Given the description of an element on the screen output the (x, y) to click on. 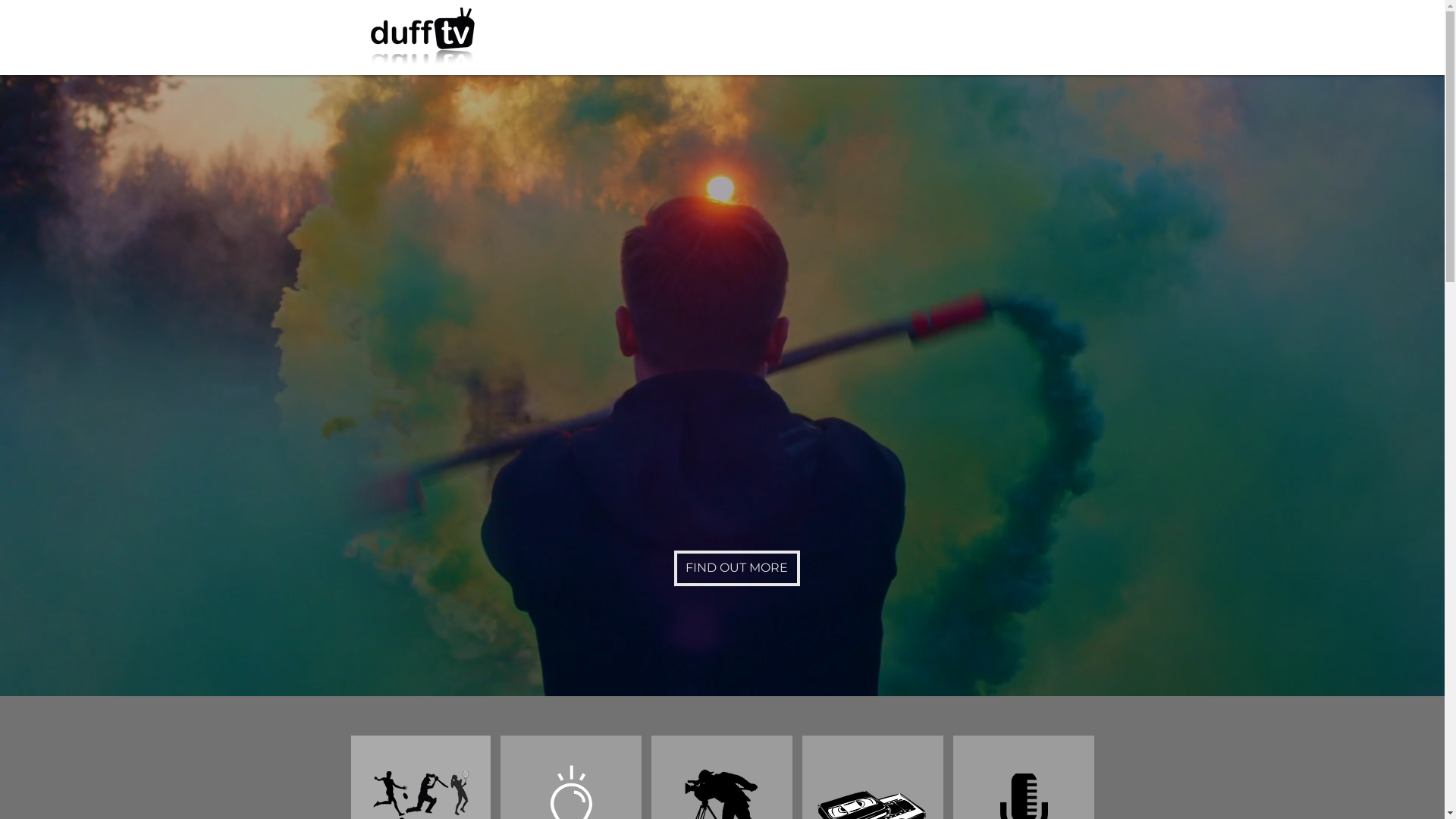
FIND OUT MORE Element type: text (736, 568)
